Given the description of an element on the screen output the (x, y) to click on. 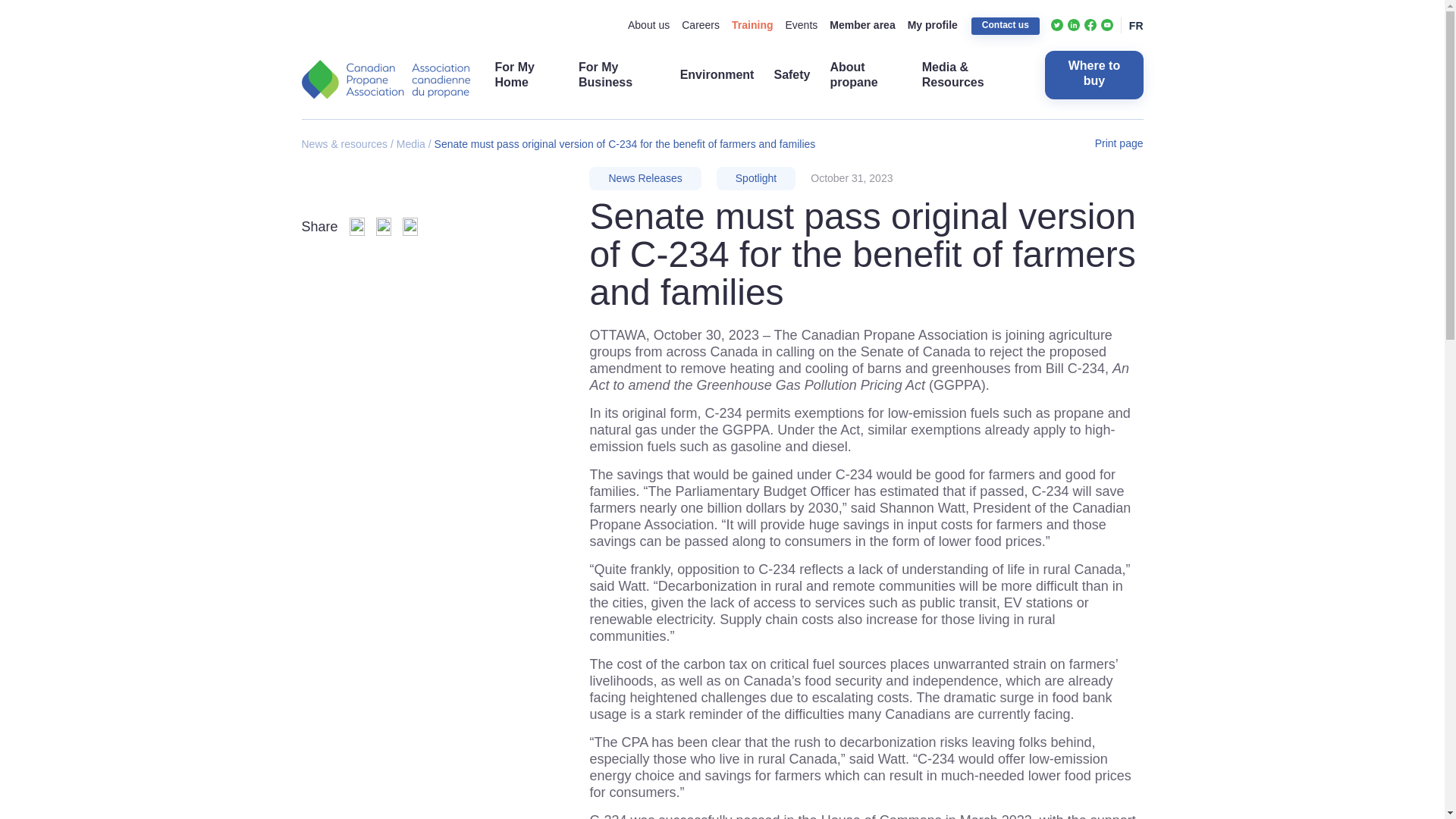
Member area (862, 24)
Training (751, 24)
Careers (700, 24)
For My Home (526, 74)
FR (1135, 25)
My profile (932, 24)
About us (648, 24)
Contact us (1005, 26)
Events (801, 24)
